Given the description of an element on the screen output the (x, y) to click on. 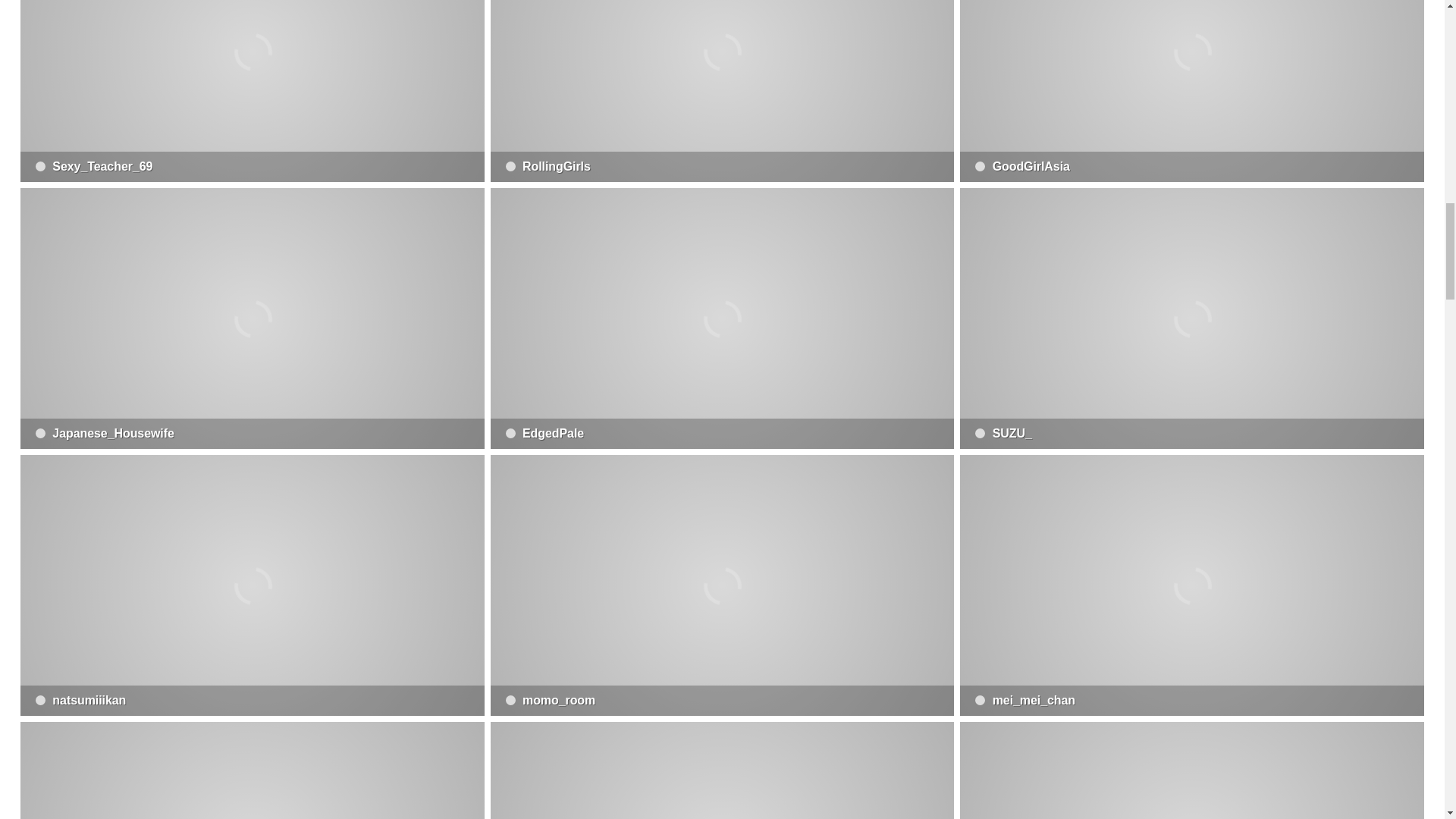
KataMazzone (1191, 770)
AesteGal (252, 770)
EdgedPale (722, 318)
RollingGirls (722, 90)
GoodGirlAsia (1191, 90)
natsumiiikan (252, 585)
MaggySparks (722, 770)
